Given the description of an element on the screen output the (x, y) to click on. 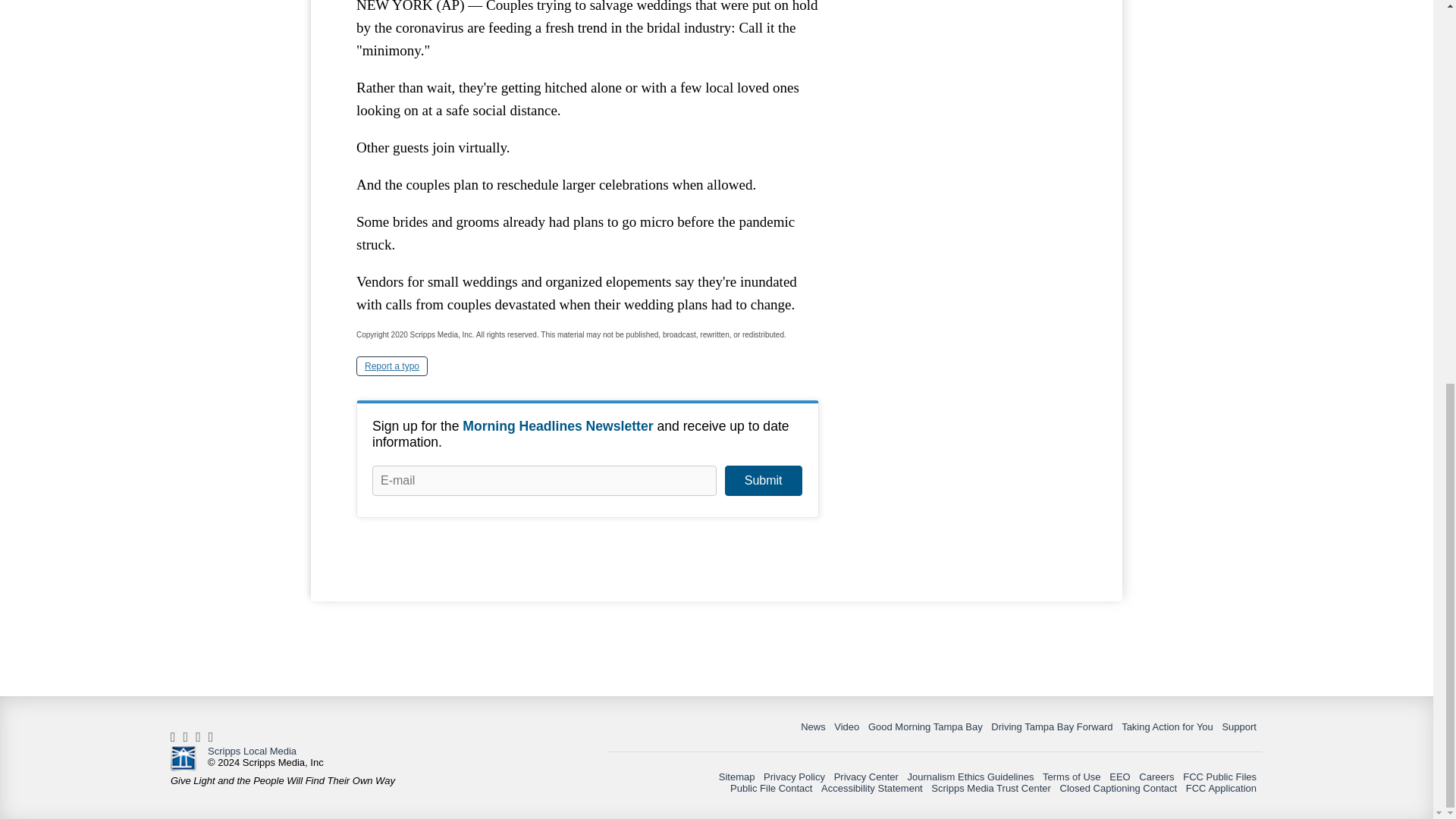
Submit (763, 481)
